Given the description of an element on the screen output the (x, y) to click on. 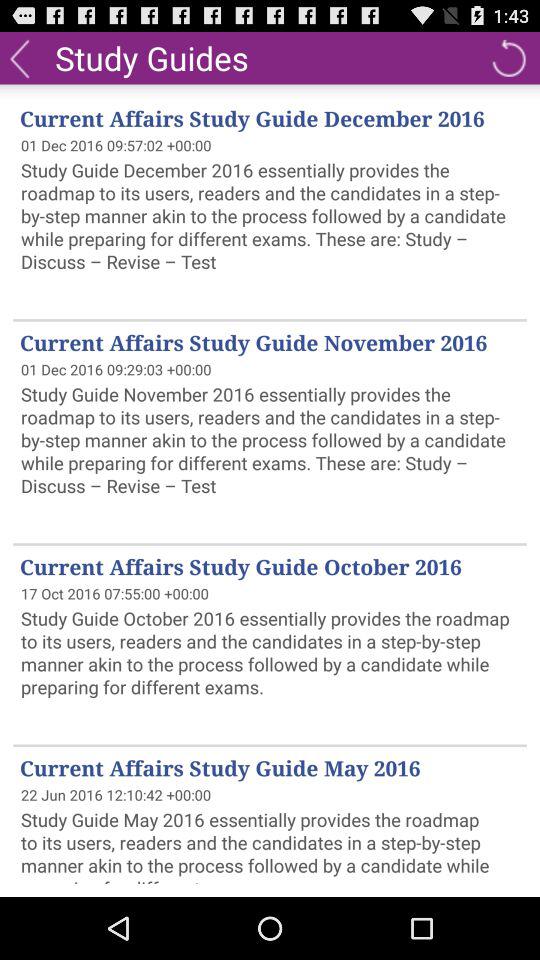
turn on the item next to study guides item (508, 57)
